Given the description of an element on the screen output the (x, y) to click on. 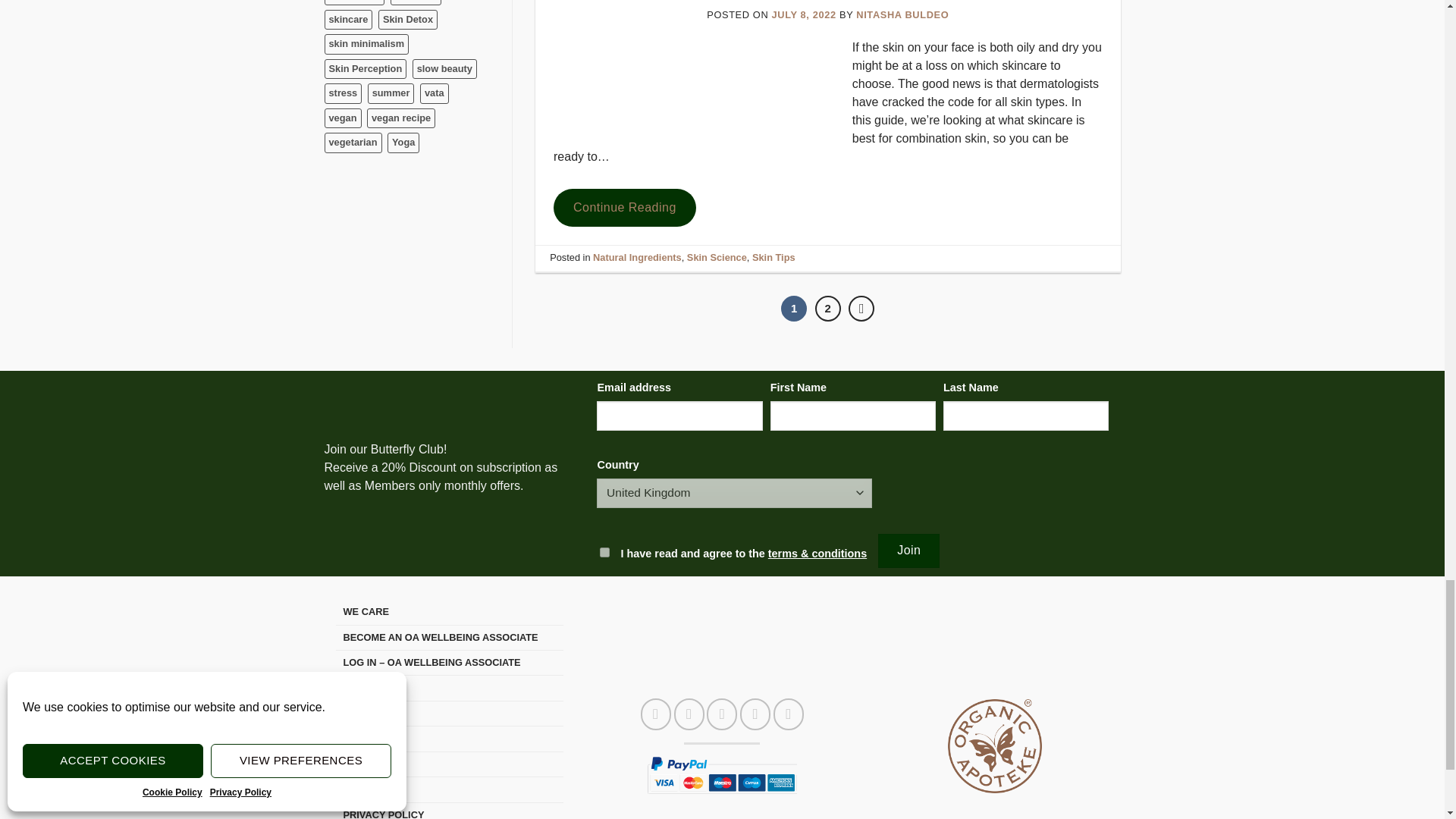
1 (604, 552)
Join (908, 550)
